Given the description of an element on the screen output the (x, y) to click on. 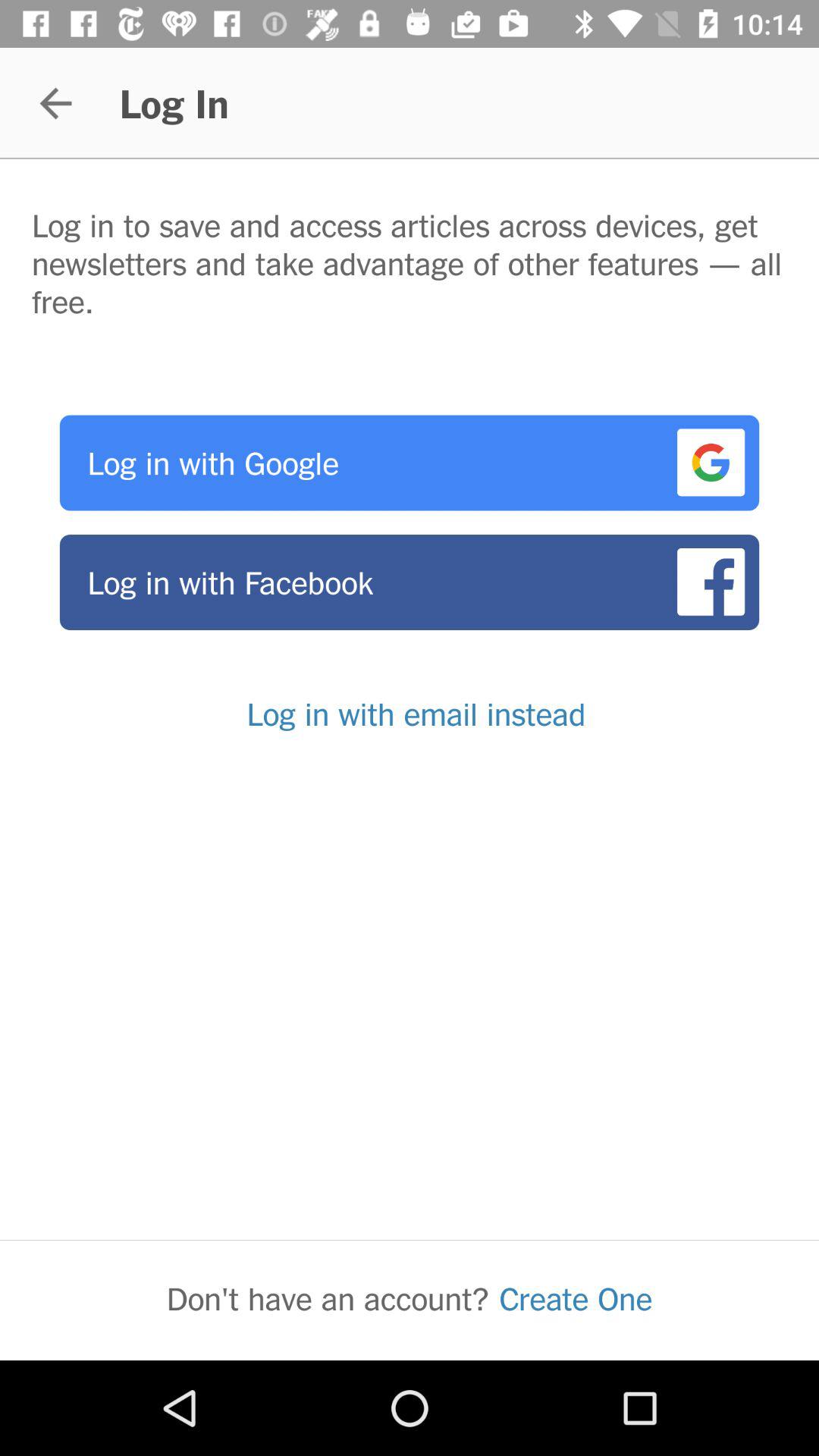
choose the item to the right of the don t have item (575, 1298)
